Given the description of an element on the screen output the (x, y) to click on. 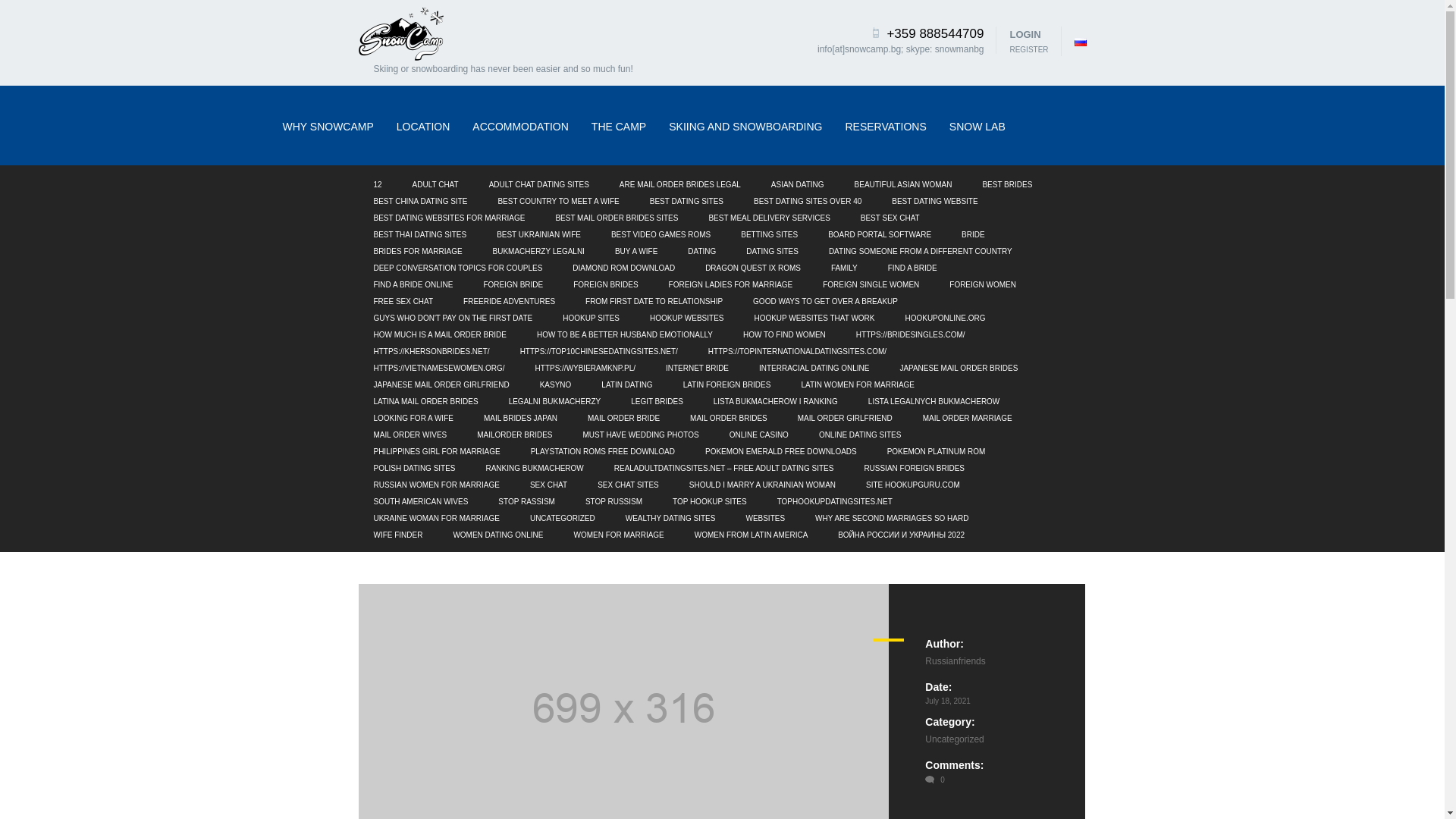
SNOW LAB (977, 126)
SKIING AND SNOWBOARDING (745, 126)
ASIAN DATING (797, 184)
ACCOMMODATION (520, 126)
BEAUTIFUL ASIAN WOMAN (903, 184)
ARE MAIL ORDER BRIDES LEGAL (680, 184)
ADULT CHAT DATING SITES (539, 184)
RESERVATIONS (885, 126)
LOCATION (422, 126)
ADULT CHAT (435, 184)
THE CAMP (618, 126)
LOGIN (1028, 34)
REGISTER (1028, 49)
WHY SNOWCAMP (327, 126)
